Given the description of an element on the screen output the (x, y) to click on. 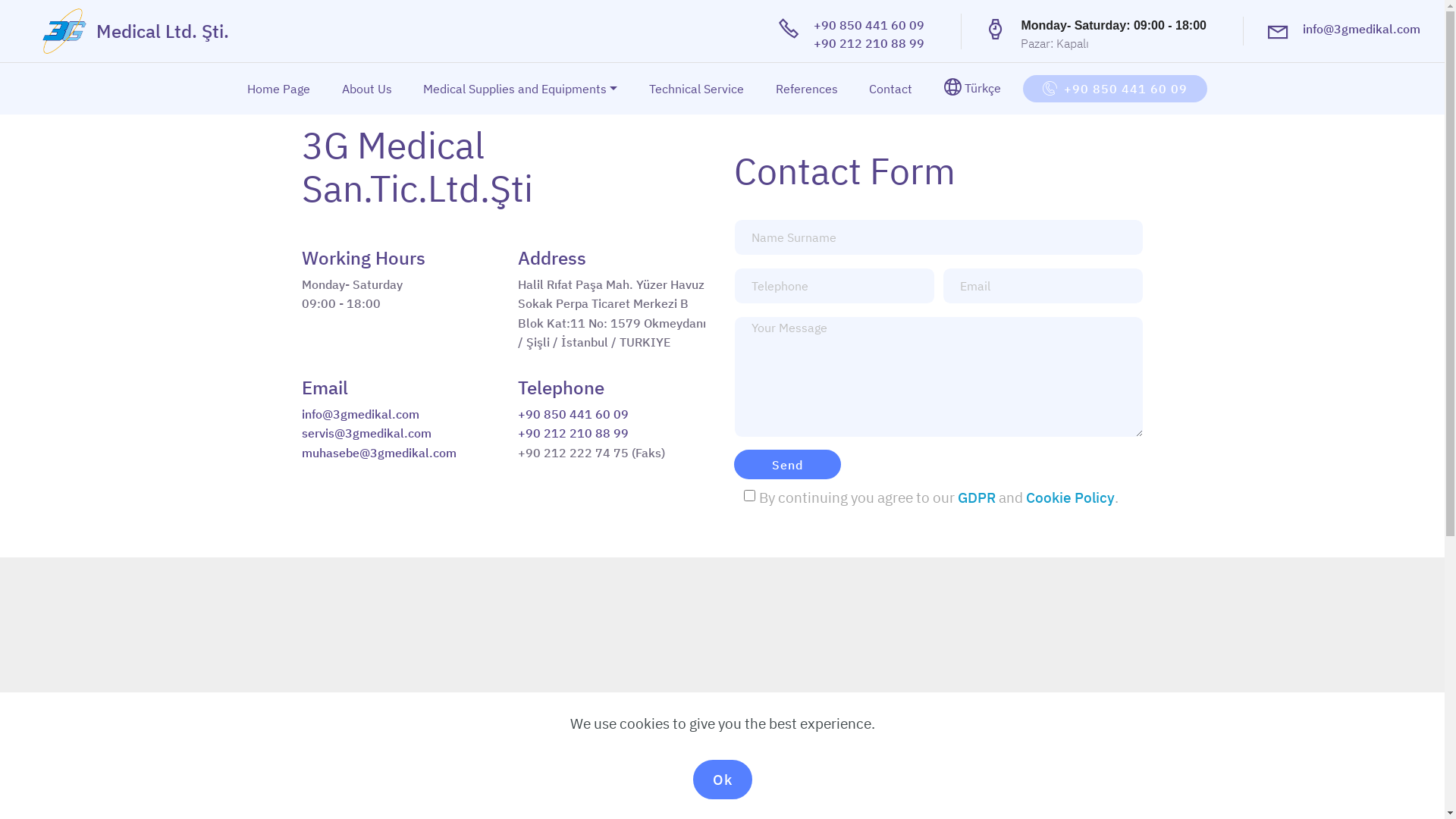
About Us Element type: text (367, 88)
info@3gmedikal.com Element type: text (1361, 28)
Medical Supplies and Equipments Element type: text (520, 88)
Send Element type: text (787, 464)
Home Page Element type: text (278, 88)
+90 212 210 88 99 Element type: text (868, 42)
References Element type: text (806, 88)
+90 850 441 60 09 Element type: text (868, 24)
servis@3gmedikal.com Element type: text (366, 432)
info@3gmedikal.com Element type: text (360, 413)
Technical Service Element type: text (696, 88)
Cookie Policy Element type: text (1069, 496)
+90 850 441 60 09 Element type: text (572, 413)
muhasebe@3gmedikal.com Element type: text (378, 452)
Contact Element type: text (890, 88)
+90 850 441 60 09 Element type: text (1114, 88)
+90 212 210 88 99 Element type: text (572, 432)
GDPR Element type: text (975, 496)
Ok Element type: text (722, 779)
